Given the description of an element on the screen output the (x, y) to click on. 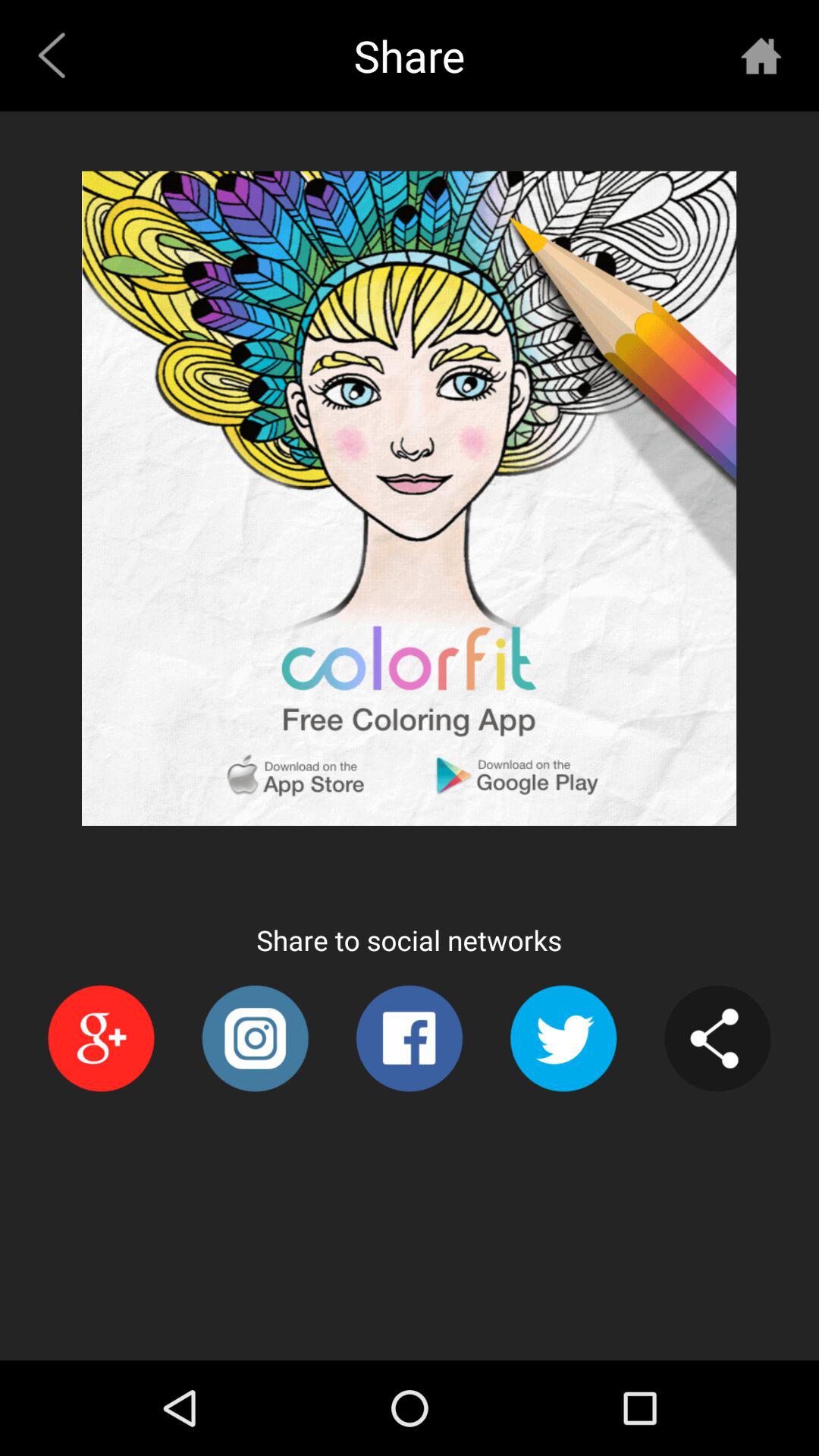
open icon at the top left corner (57, 55)
